Given the description of an element on the screen output the (x, y) to click on. 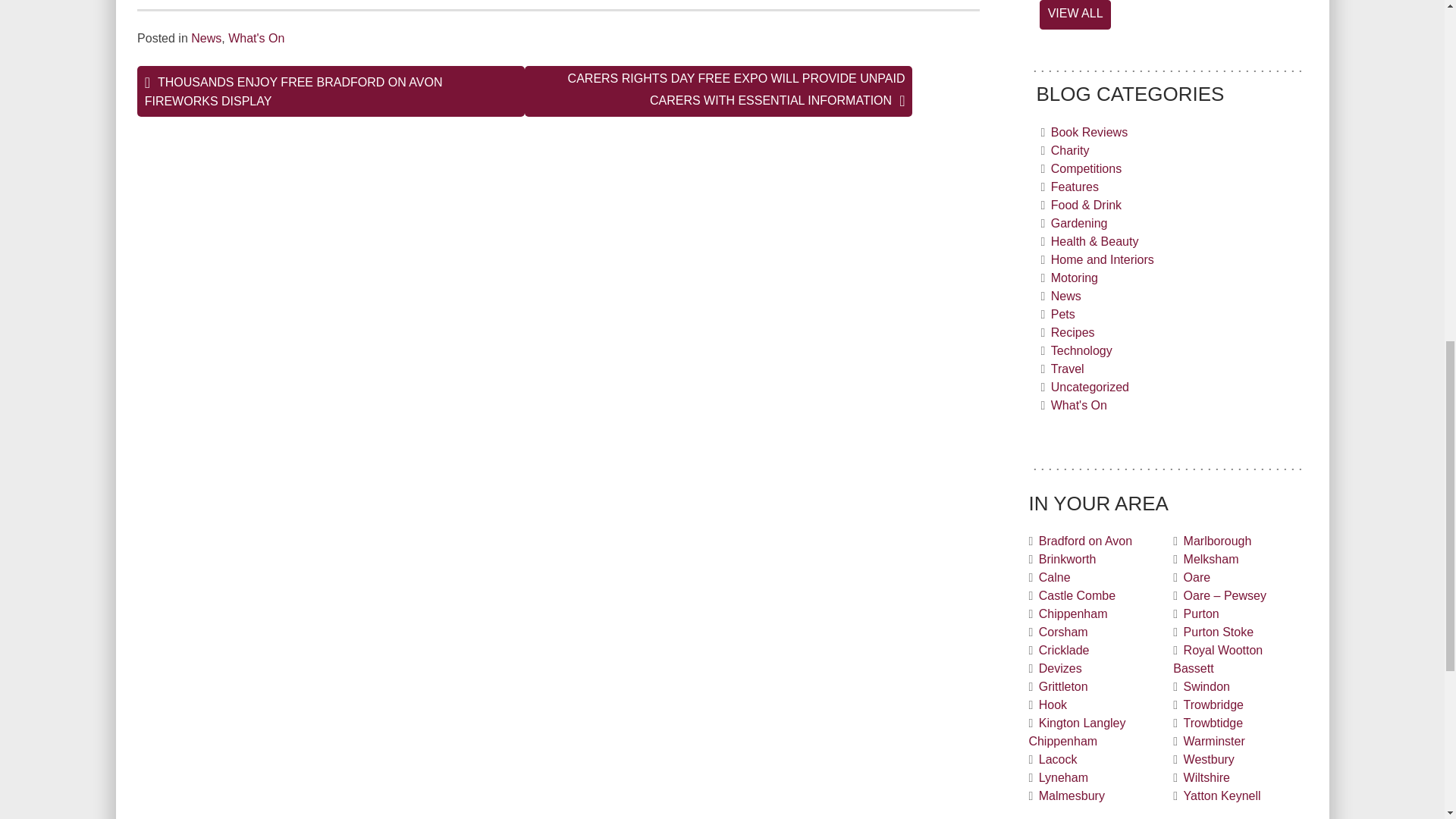
THOUSANDS ENJOY FREE BRADFORD ON AVON FIREWORKS DISPLAY (330, 91)
What's On (255, 38)
News (205, 38)
